Given the description of an element on the screen output the (x, y) to click on. 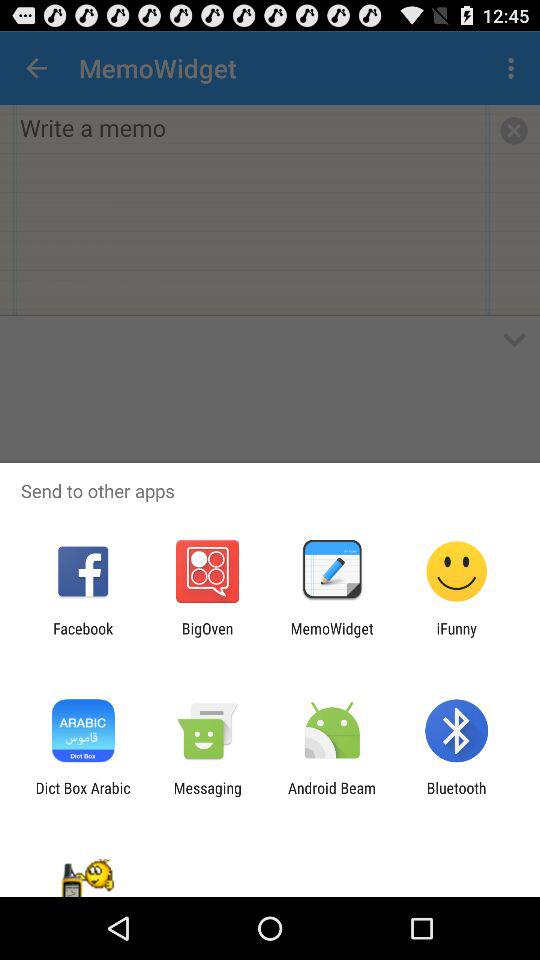
launch the bigoven item (207, 637)
